Given the description of an element on the screen output the (x, y) to click on. 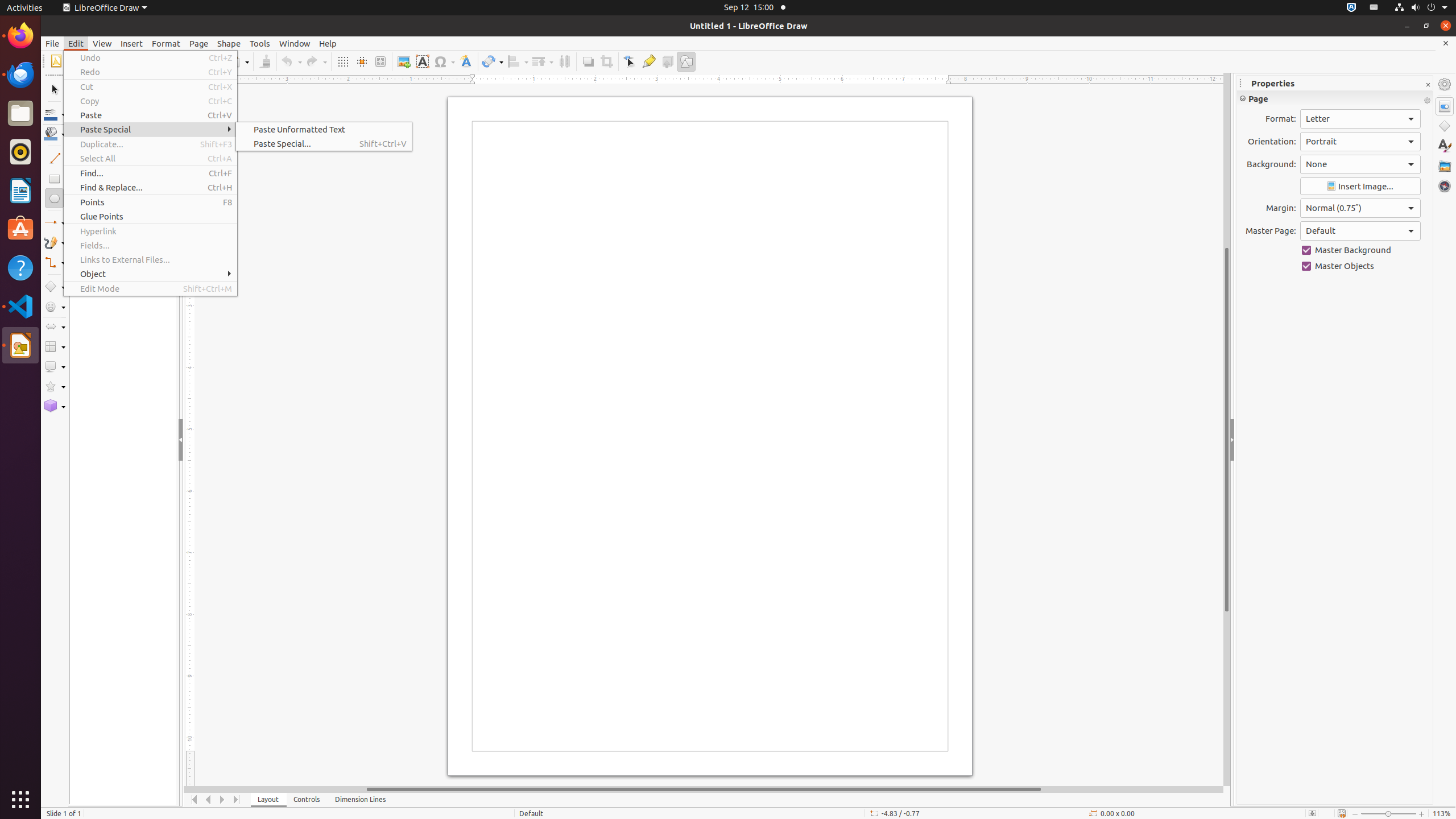
:1.21/StatusNotifierItem Element type: menu (1373, 7)
Vertical scroll bar Element type: scroll-bar (1226, 429)
Glue Points Element type: push-button (648, 61)
Toggle Extrusion Element type: push-button (667, 61)
Fields... Element type: menu-item (150, 245)
